Given the description of an element on the screen output the (x, y) to click on. 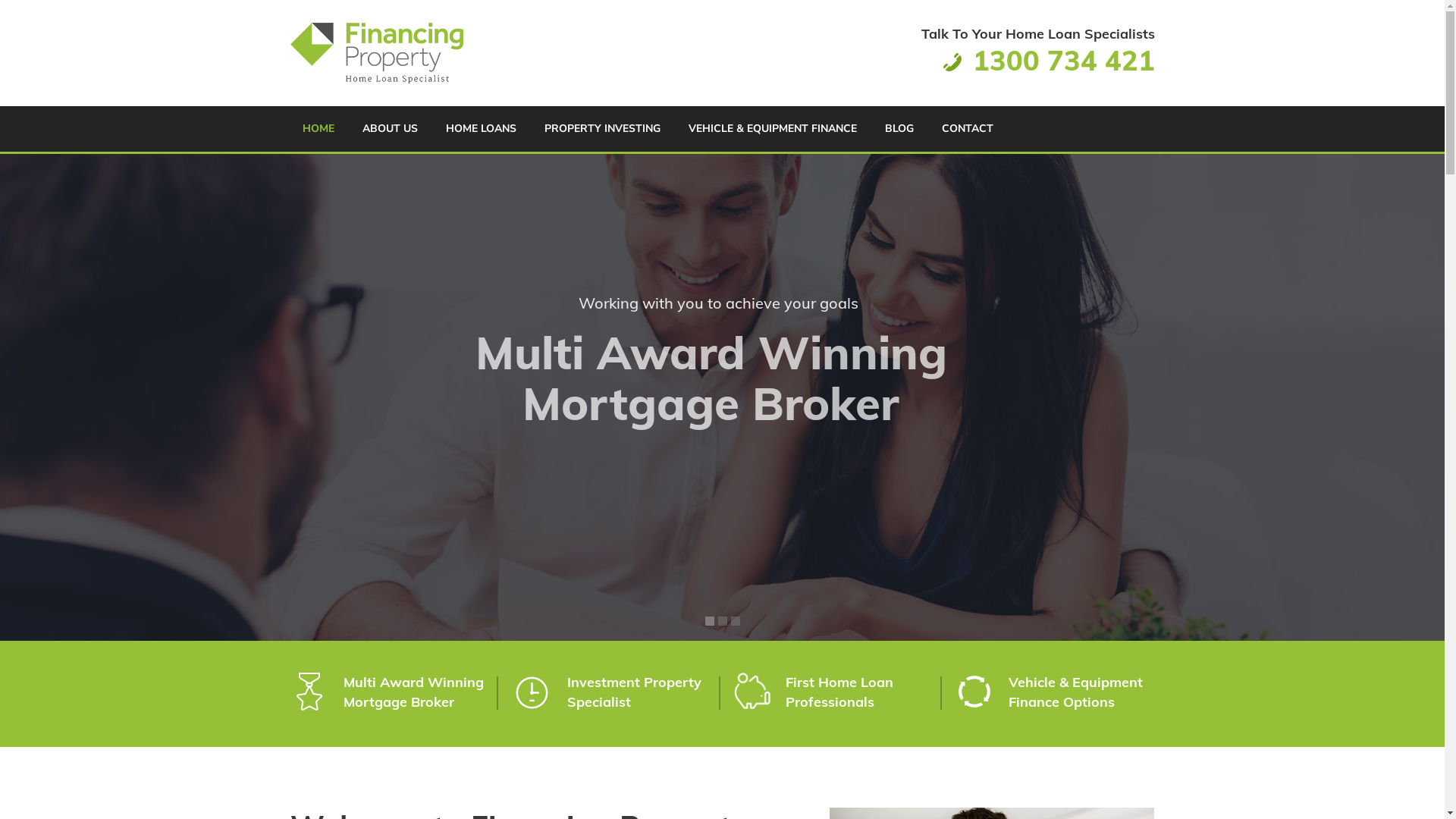
1300 734 421 Element type: text (1063, 60)
HOME LOANS Element type: text (480, 128)
CONTACT Element type: text (967, 128)
BLOG Element type: text (898, 128)
HOME Element type: text (317, 128)
VEHICLE & EQUIPMENT FINANCE Element type: text (772, 128)
PROPERTY INVESTING Element type: text (602, 128)
Home Loan Specialists Element type: hover (376, 53)
ABOUT US Element type: text (389, 128)
